Given the description of an element on the screen output the (x, y) to click on. 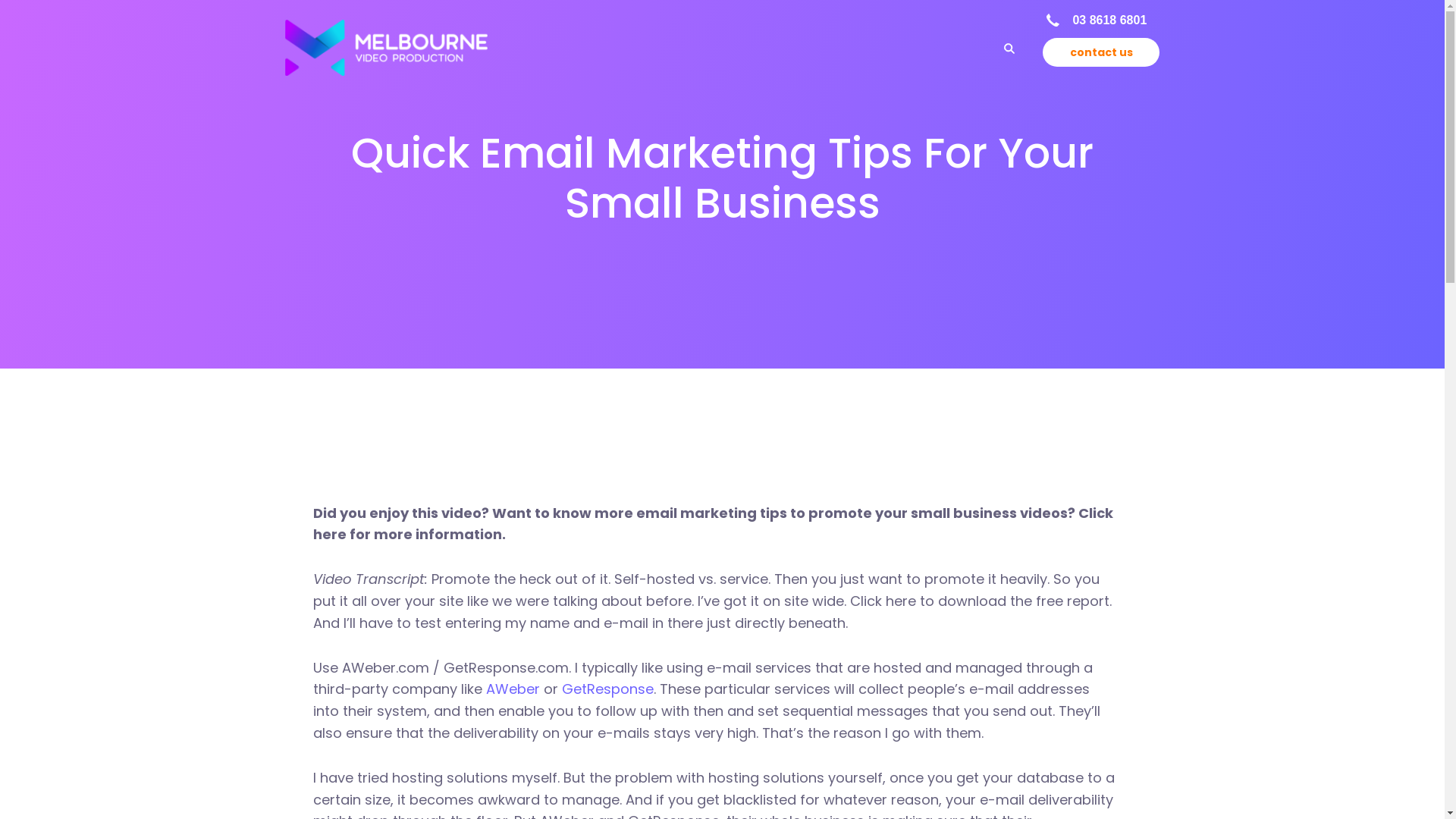
AWeber Element type: text (512, 688)
contact us Element type: text (1100, 51)
GetResponse Element type: text (606, 688)
youtube Video Player Element type: hover (710, 341)
